Given the description of an element on the screen output the (x, y) to click on. 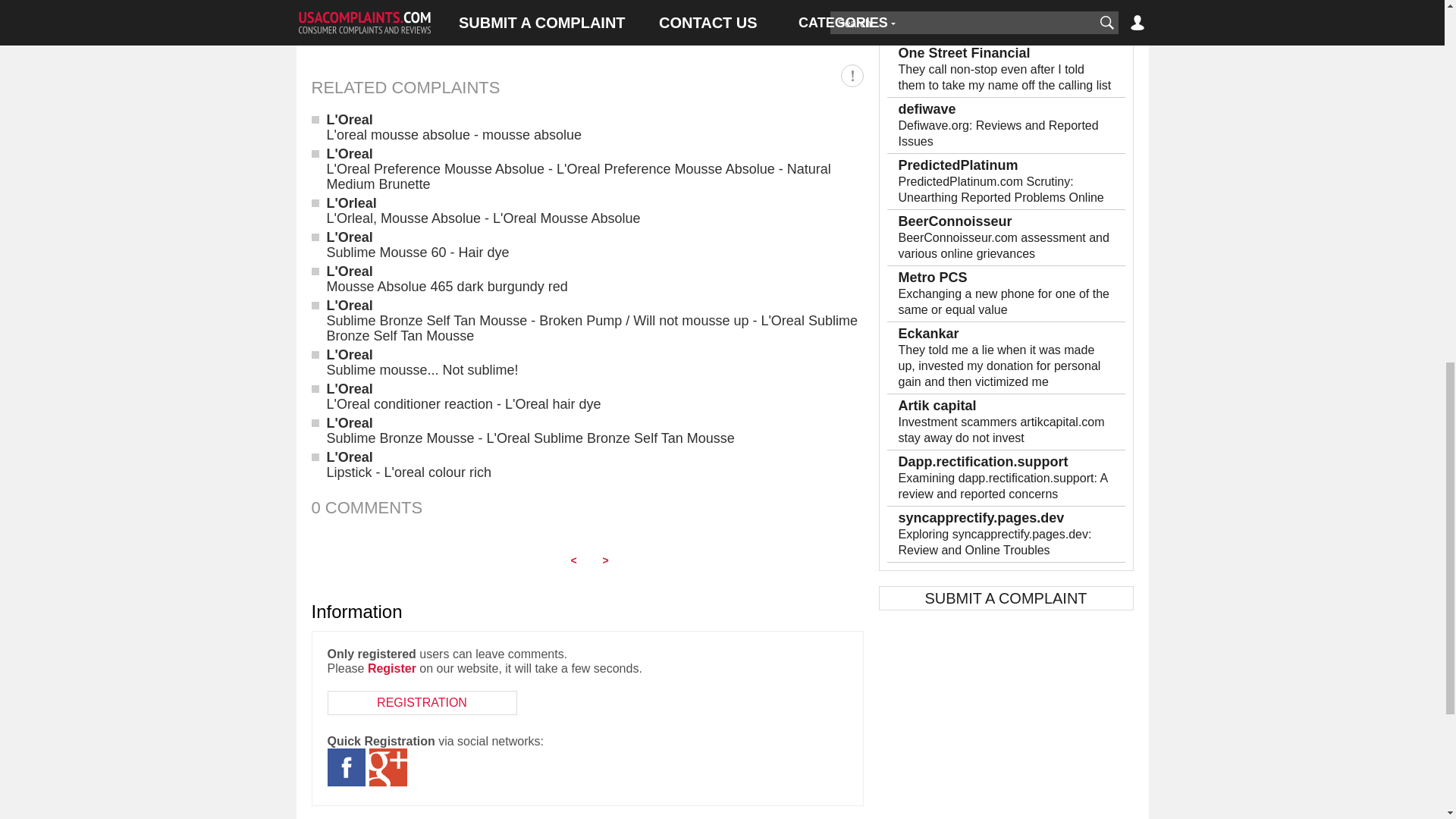
Advertisement (587, 22)
Login with Google (387, 767)
Login with Facebook (346, 767)
